Given the description of an element on the screen output the (x, y) to click on. 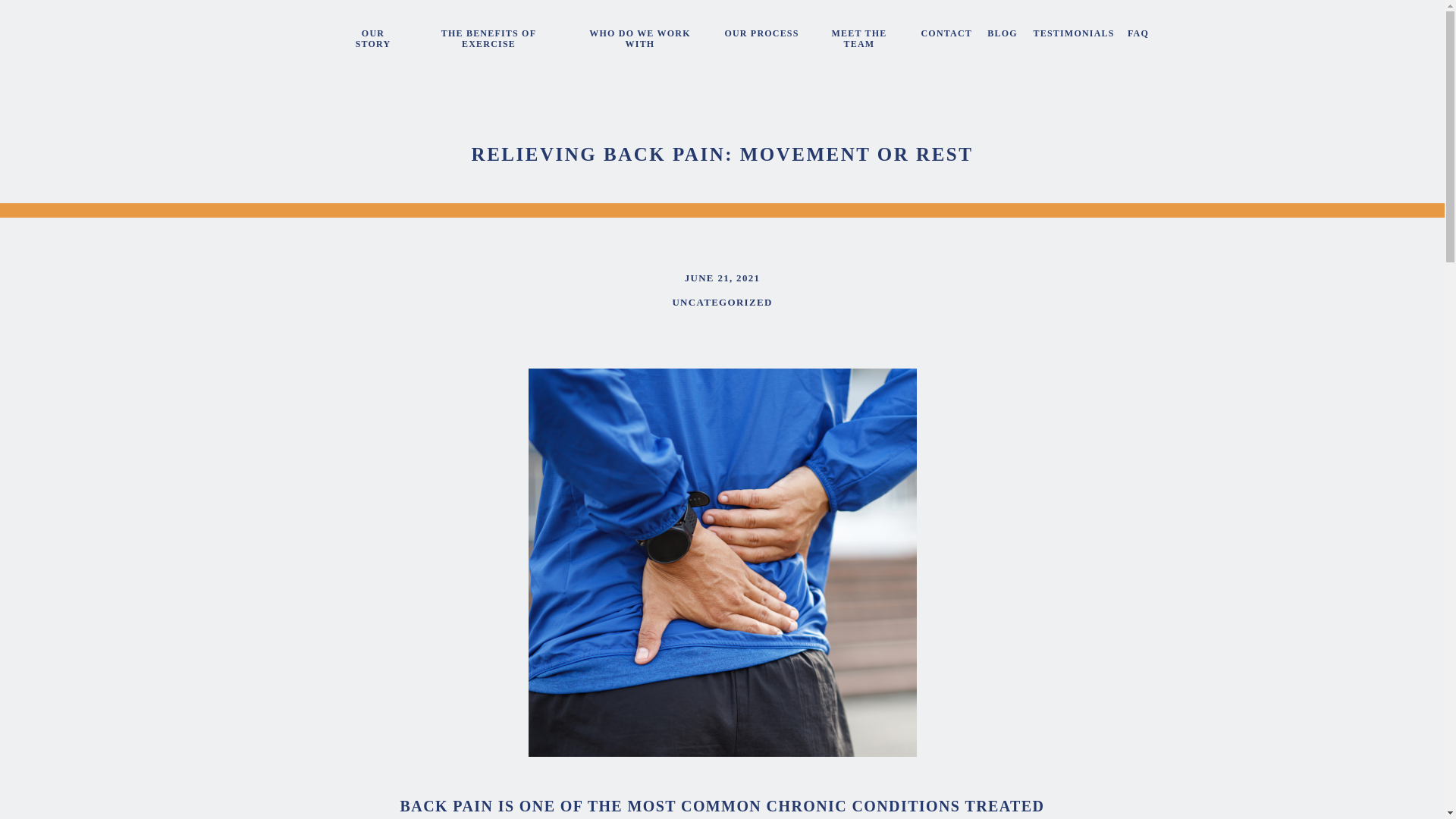
CONTACT (944, 36)
FAQ (1137, 36)
OUR PROCESS (761, 36)
MEET THE TEAM (858, 36)
WHO DO WE WORK WITH (640, 36)
TESTIMONIALS (1070, 36)
BLOG (1002, 36)
OUR STORY (372, 36)
THE BENEFITS OF EXERCISE (487, 36)
